Given the description of an element on the screen output the (x, y) to click on. 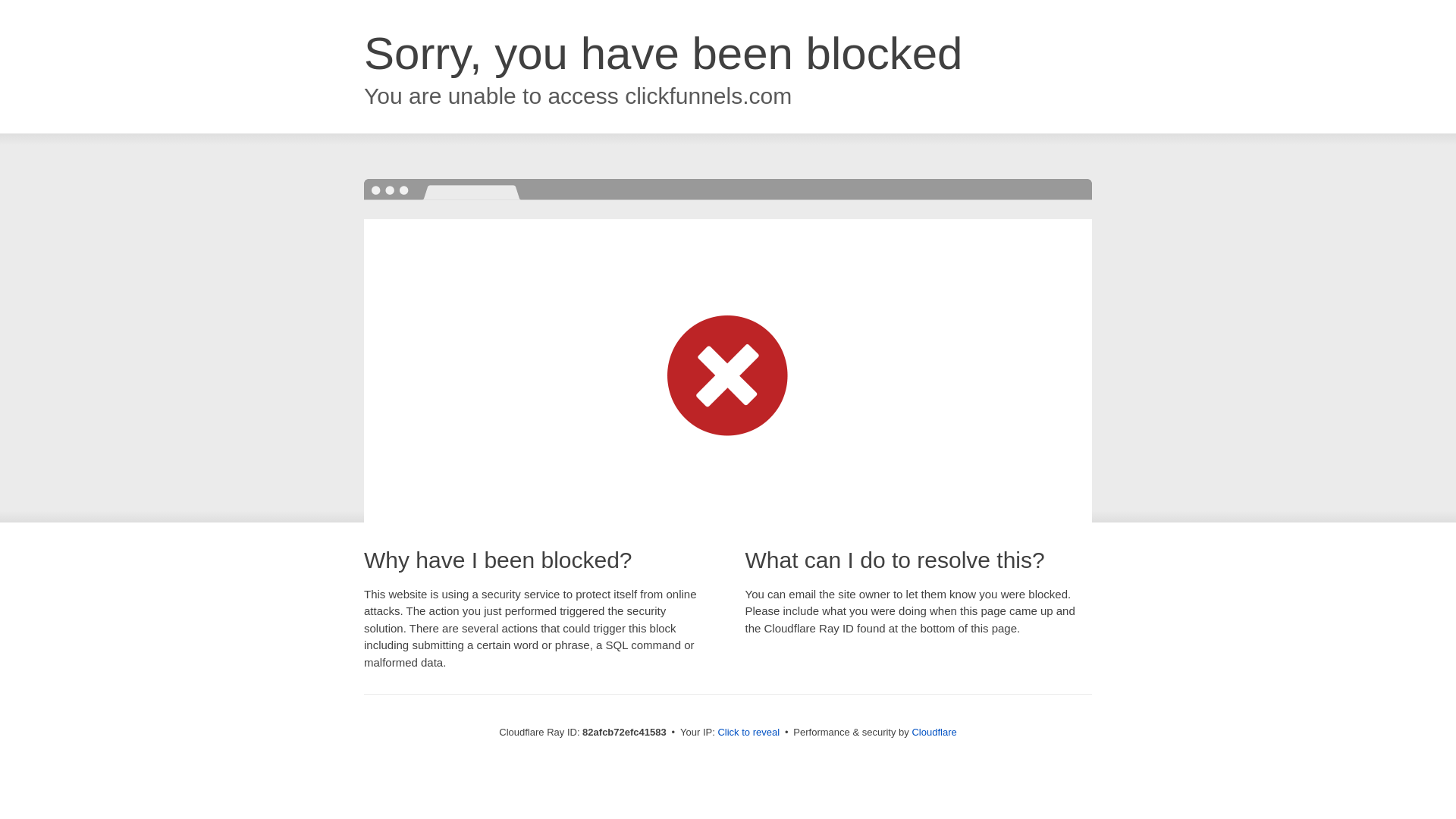
Cloudflare Element type: text (933, 731)
Click to reveal Element type: text (748, 732)
